Given the description of an element on the screen output the (x, y) to click on. 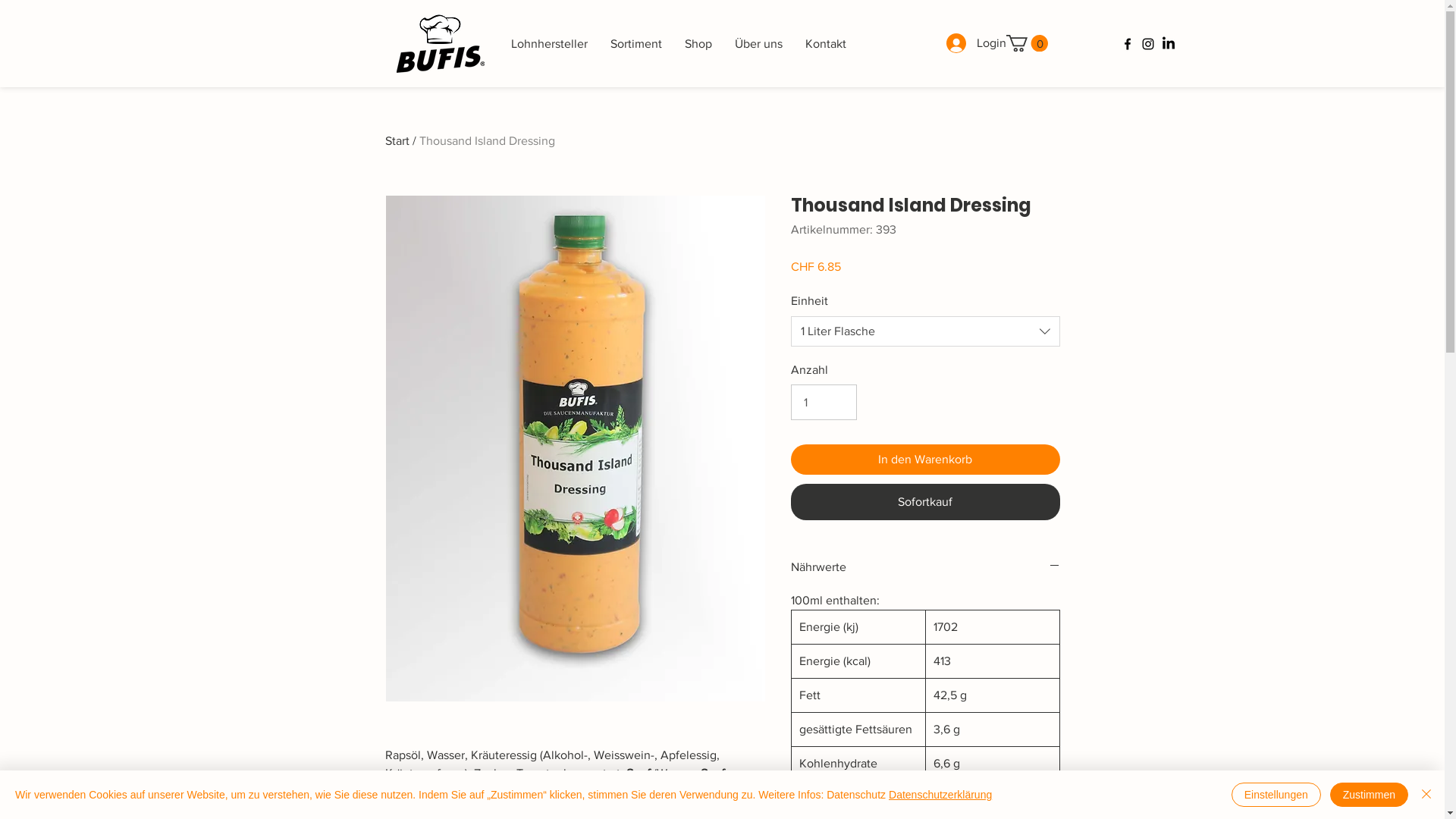
In den Warenkorb Element type: text (924, 459)
1 Liter Flasche Element type: text (924, 331)
Zustimmen Element type: text (1369, 794)
Start Element type: text (397, 140)
Login Element type: text (958, 42)
Einstellungen Element type: text (1276, 794)
Lohnhersteller Element type: text (548, 43)
Sortiment Element type: text (636, 43)
Kontakt Element type: text (824, 43)
0 Element type: text (1026, 42)
Shop Element type: text (698, 43)
Sofortkauf Element type: text (924, 501)
